Given the description of an element on the screen output the (x, y) to click on. 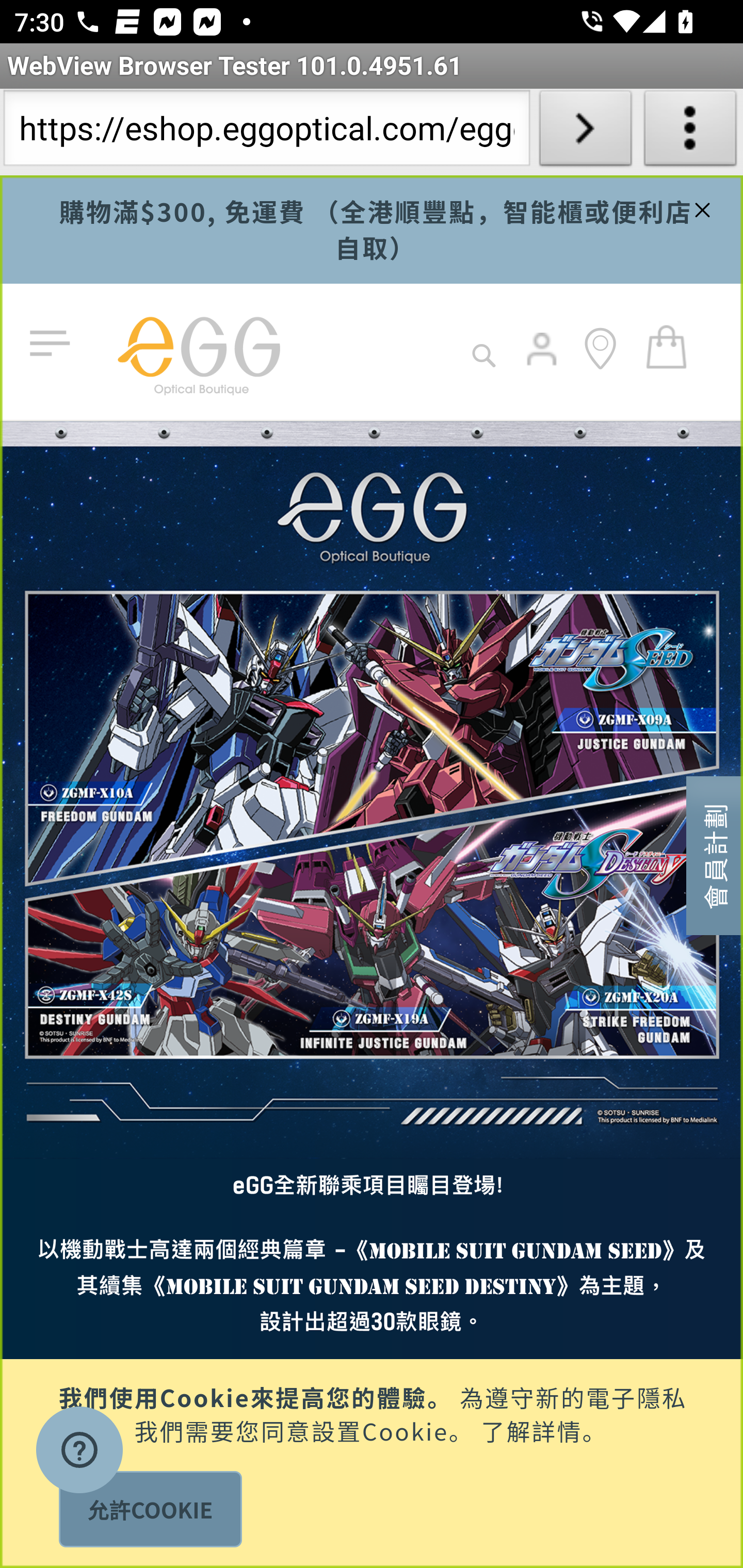
Load URL (585, 132)
About WebView (690, 132)
 (699, 206)
store logo eGG 網上商店 (198, 351)
切換導航 (54, 343)
我的購物車 (666, 345)
login (543, 362)
會員計劃 (714, 854)
Opens a widget where you can find more information (79, 1452)
了解詳情 (531, 1429)
允許COOKIE (149, 1509)
